Given the description of an element on the screen output the (x, y) to click on. 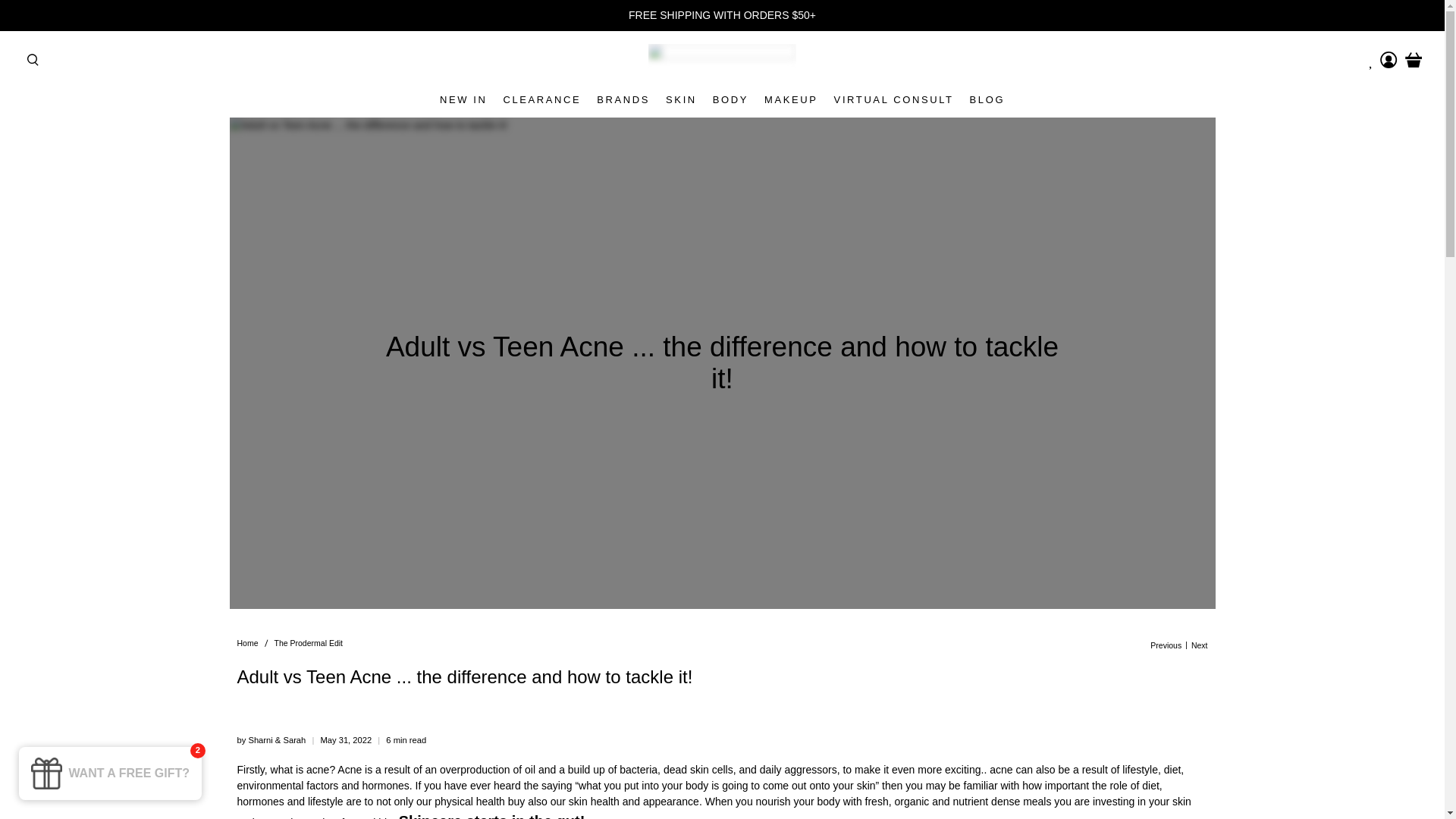
Prodermal (721, 60)
Prodermal (246, 643)
NEW IN (462, 99)
Next (1199, 645)
BRANDS (623, 99)
The Prodermal Edit (308, 643)
CLEARANCE (542, 99)
Previous (1165, 645)
